Given the description of an element on the screen output the (x, y) to click on. 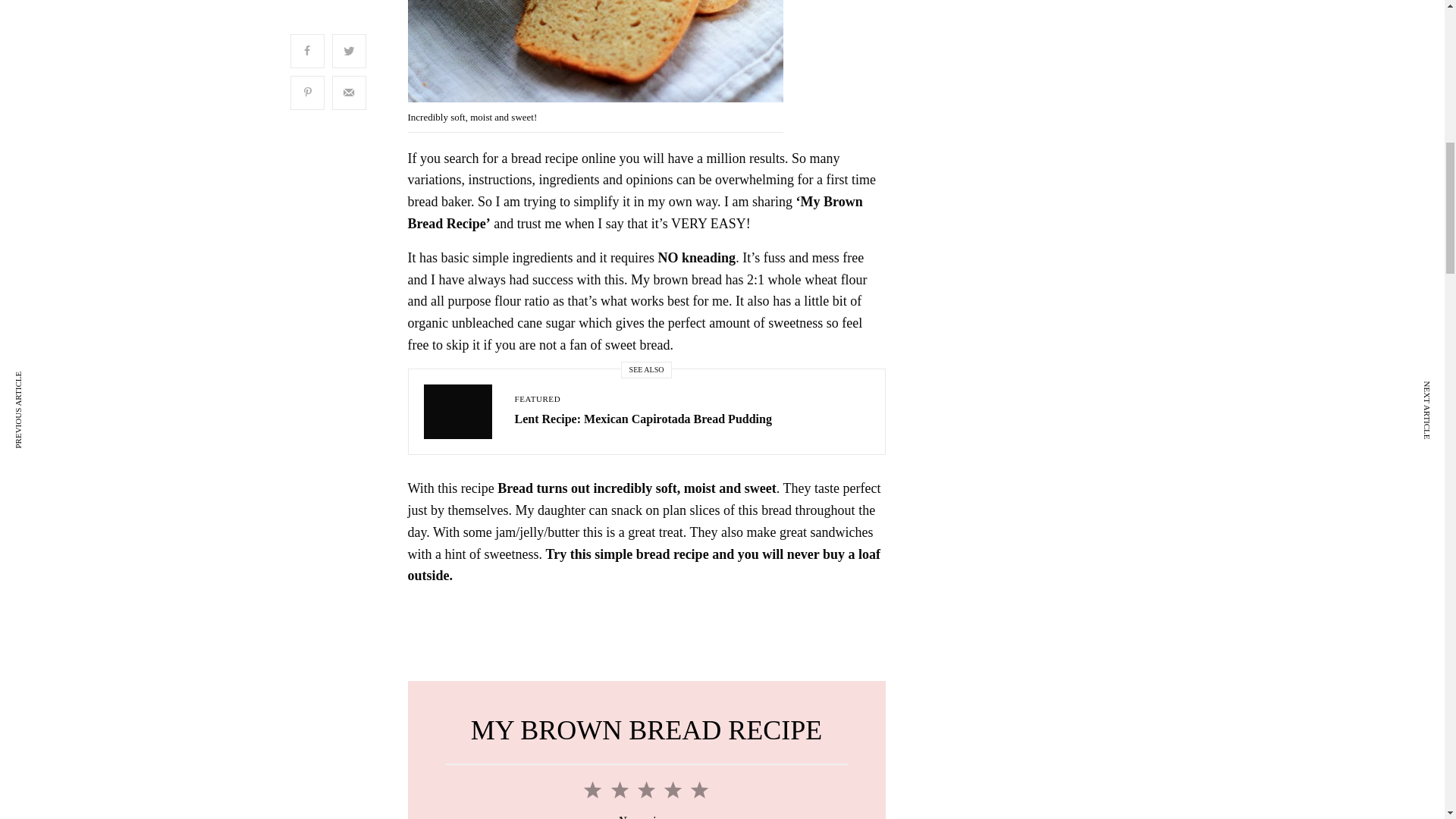
Lent Recipe: Mexican Capirotada Bread Pudding (642, 419)
Lent Recipe: Mexican Capirotada Bread Pudding (642, 419)
FEATURED (536, 398)
